Given the description of an element on the screen output the (x, y) to click on. 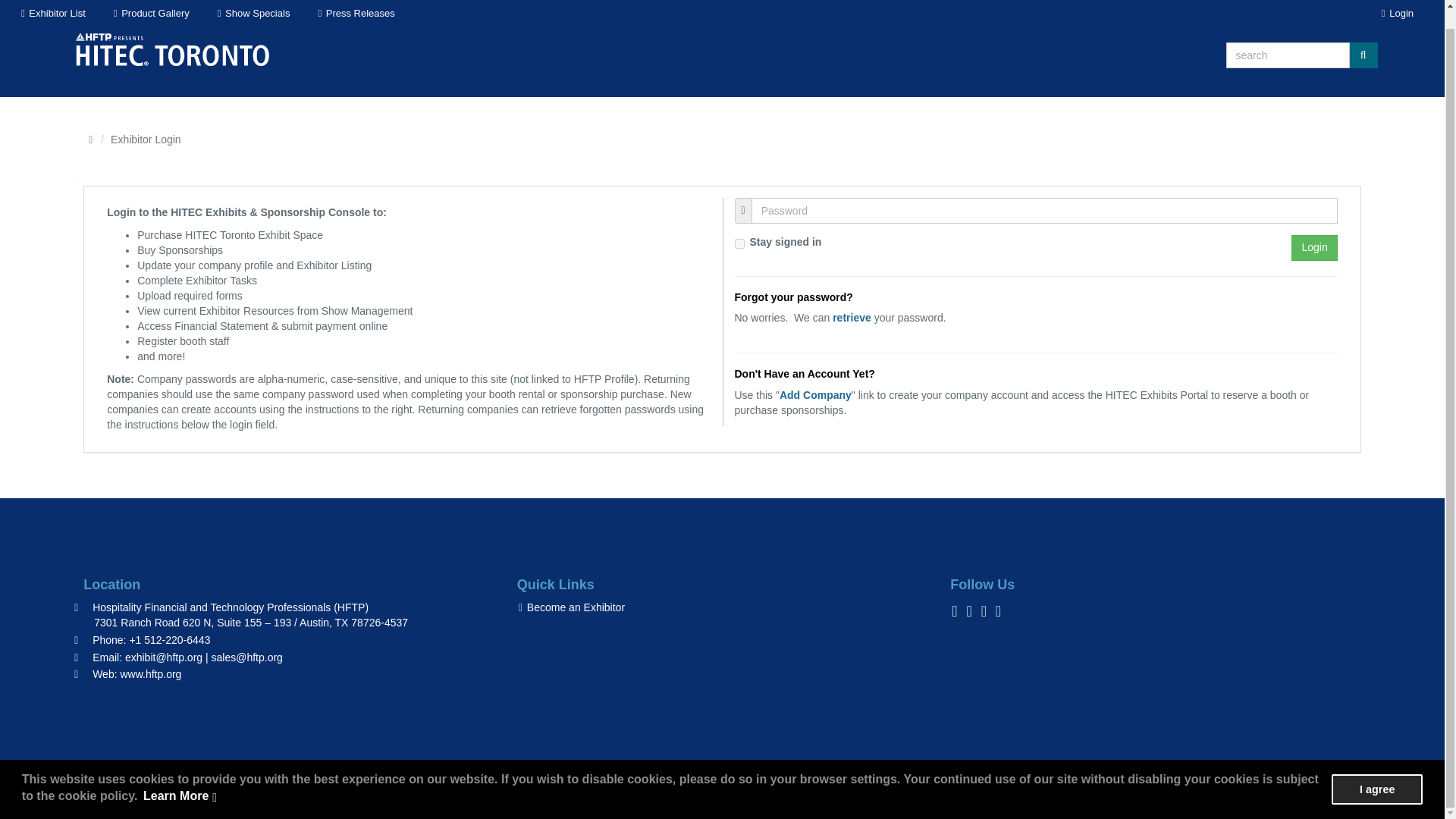
Become an Exhibitor (570, 607)
Login (1313, 248)
I agree (1377, 770)
retrieve (851, 317)
Login (1313, 248)
Show Specials (253, 4)
www.hftp.org (149, 674)
Exhibitor List (52, 4)
Press Releases (354, 4)
on (738, 243)
Login (1397, 4)
Product Gallery (150, 4)
Add Company (814, 395)
Learn More (180, 778)
